Given the description of an element on the screen output the (x, y) to click on. 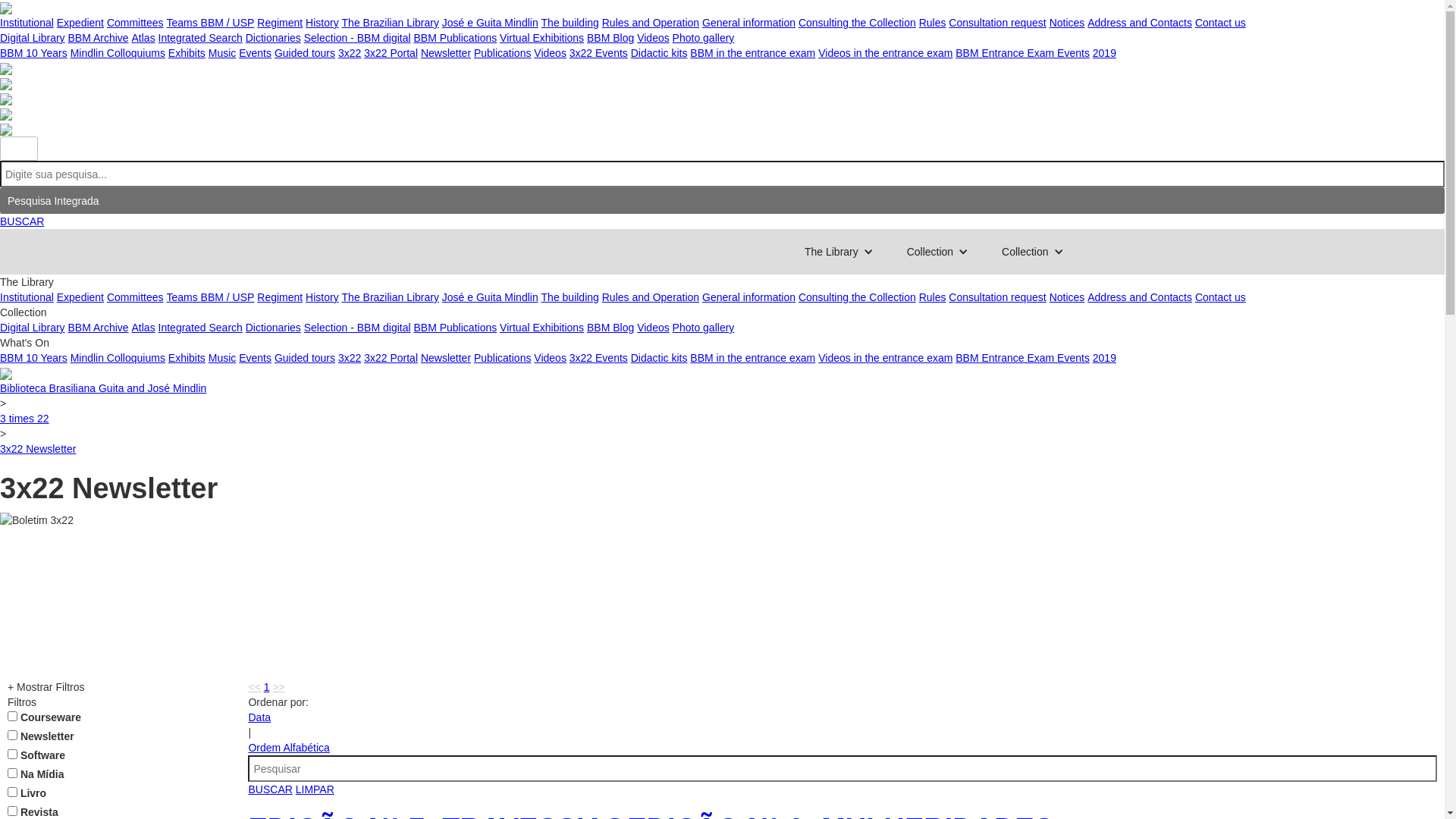
General information Element type: text (748, 22)
Videos Element type: text (549, 357)
Mindlin Colloquiums Element type: text (117, 357)
BUSCAR Element type: text (21, 221)
1 Element type: text (266, 686)
LIMPAR Element type: text (314, 789)
BBM in the entrance exam Element type: text (752, 52)
History Element type: text (321, 296)
Guided tours Element type: text (304, 52)
Mindlin Colloquiums Element type: text (117, 52)
Rules and Operation Element type: text (650, 22)
BBM 10 Years Element type: text (33, 357)
Videos Element type: text (549, 52)
Videos in the entrance exam Element type: text (885, 357)
Rules and Operation Element type: text (650, 296)
BBM 10 Years Element type: text (33, 52)
The Brazilian Library Element type: text (390, 296)
2019 Element type: text (1104, 52)
Integrated Search Element type: text (200, 37)
Events Element type: text (254, 52)
General information Element type: text (748, 296)
Guided tours Element type: text (304, 357)
Consulting the Collection Element type: text (857, 296)
Atlas Element type: text (143, 37)
Publications Element type: text (502, 52)
History Element type: text (321, 22)
Teams BBM / USP Element type: text (210, 296)
Atlas Element type: text (143, 327)
Virtual Exhibitions Element type: text (541, 37)
Data Element type: text (258, 716)
Address and Contacts Element type: text (1139, 22)
Dictionaries Element type: text (273, 327)
BBM Entrance Exam Events Element type: text (1022, 357)
Events Element type: text (254, 357)
Digital Library Element type: text (32, 37)
Notices Element type: text (1067, 296)
Videos Element type: text (653, 37)
Publications Element type: text (502, 357)
3x22 Portal Element type: text (390, 52)
Integrated Search Element type: text (200, 327)
Newsletter Element type: text (445, 357)
Digital Library Element type: text (32, 327)
BBM Entrance Exam Events Element type: text (1022, 52)
Institutional Element type: text (26, 296)
Videos Element type: text (653, 327)
Consulting the Collection Element type: text (857, 22)
Teams BBM / USP Element type: text (210, 22)
Contact us Element type: text (1220, 22)
Contact us Element type: text (1220, 296)
Photo gallery Element type: text (703, 37)
BBM Archive Element type: text (97, 327)
Expedient Element type: text (79, 22)
Consultation request Element type: text (996, 22)
Exhibits Element type: text (186, 357)
BBM in the entrance exam Element type: text (752, 357)
Selection - BBM digital Element type: text (357, 327)
BBM Publications Element type: text (454, 37)
The building Element type: text (570, 22)
3x22 Element type: text (349, 52)
>> Element type: text (278, 686)
Committees Element type: text (134, 296)
Rules Element type: text (932, 22)
3x22 Events Element type: text (598, 357)
Newsletter Element type: text (445, 52)
Regiment Element type: text (279, 22)
Virtual Exhibitions Element type: text (541, 327)
Expedient Element type: text (79, 296)
3x22 Events Element type: text (598, 52)
Music Element type: text (222, 357)
Institutional Element type: text (26, 22)
Regiment Element type: text (279, 296)
Videos in the entrance exam Element type: text (885, 52)
Exhibits Element type: text (186, 52)
BBM Blog Element type: text (609, 37)
The Brazilian Library Element type: text (390, 22)
BBM Publications Element type: text (454, 327)
2019 Element type: text (1104, 357)
3x22 Newsletter Element type: text (37, 448)
Photo gallery Element type: text (703, 327)
Address and Contacts Element type: text (1139, 296)
Notices Element type: text (1067, 22)
BUSCAR Element type: text (269, 789)
BBM Blog Element type: text (609, 327)
3x22 Element type: text (349, 357)
Music Element type: text (222, 52)
Didactic kits Element type: text (658, 52)
3x22 Portal Element type: text (390, 357)
3 times 22 Element type: text (24, 418)
Didactic kits Element type: text (658, 357)
<< Element type: text (253, 686)
Committees Element type: text (134, 22)
The building Element type: text (570, 296)
BBM Archive Element type: text (97, 37)
Selection - BBM digital Element type: text (357, 37)
Rules Element type: text (932, 296)
Dictionaries Element type: text (273, 37)
Consultation request Element type: text (996, 296)
